Given the description of an element on the screen output the (x, y) to click on. 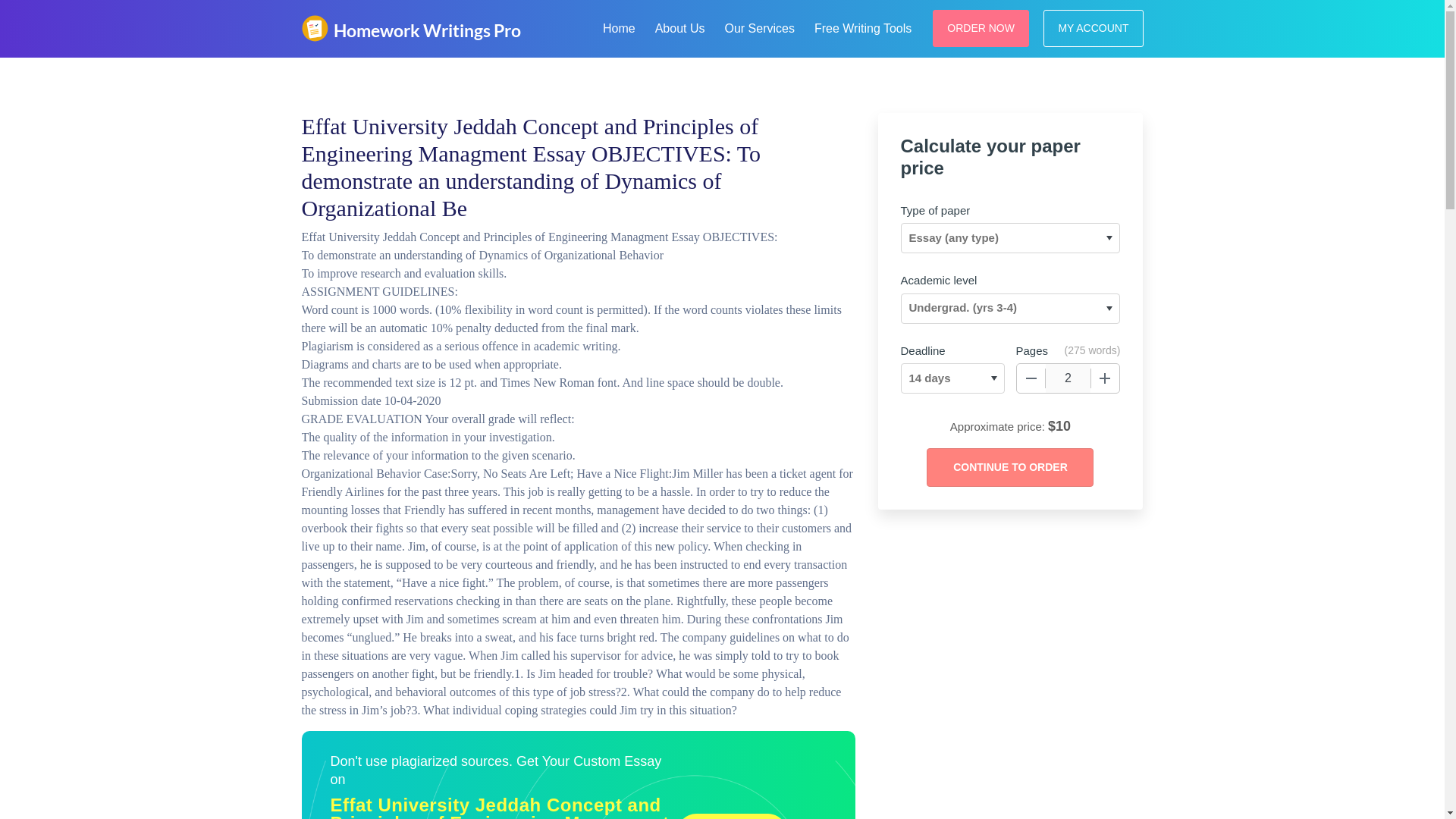
Continue to order (1009, 466)
Decrease (1030, 378)
Our Services (758, 26)
About Us (680, 26)
Continue to order (1009, 466)
Home (619, 26)
Our Services (758, 26)
About Us (680, 26)
Free Writing Tools (862, 26)
Home (619, 26)
ORDER NOW (981, 27)
2 (1067, 378)
Increase (1104, 378)
MY ACCOUNT (1092, 27)
ORDER ESSAY (732, 816)
